Given the description of an element on the screen output the (x, y) to click on. 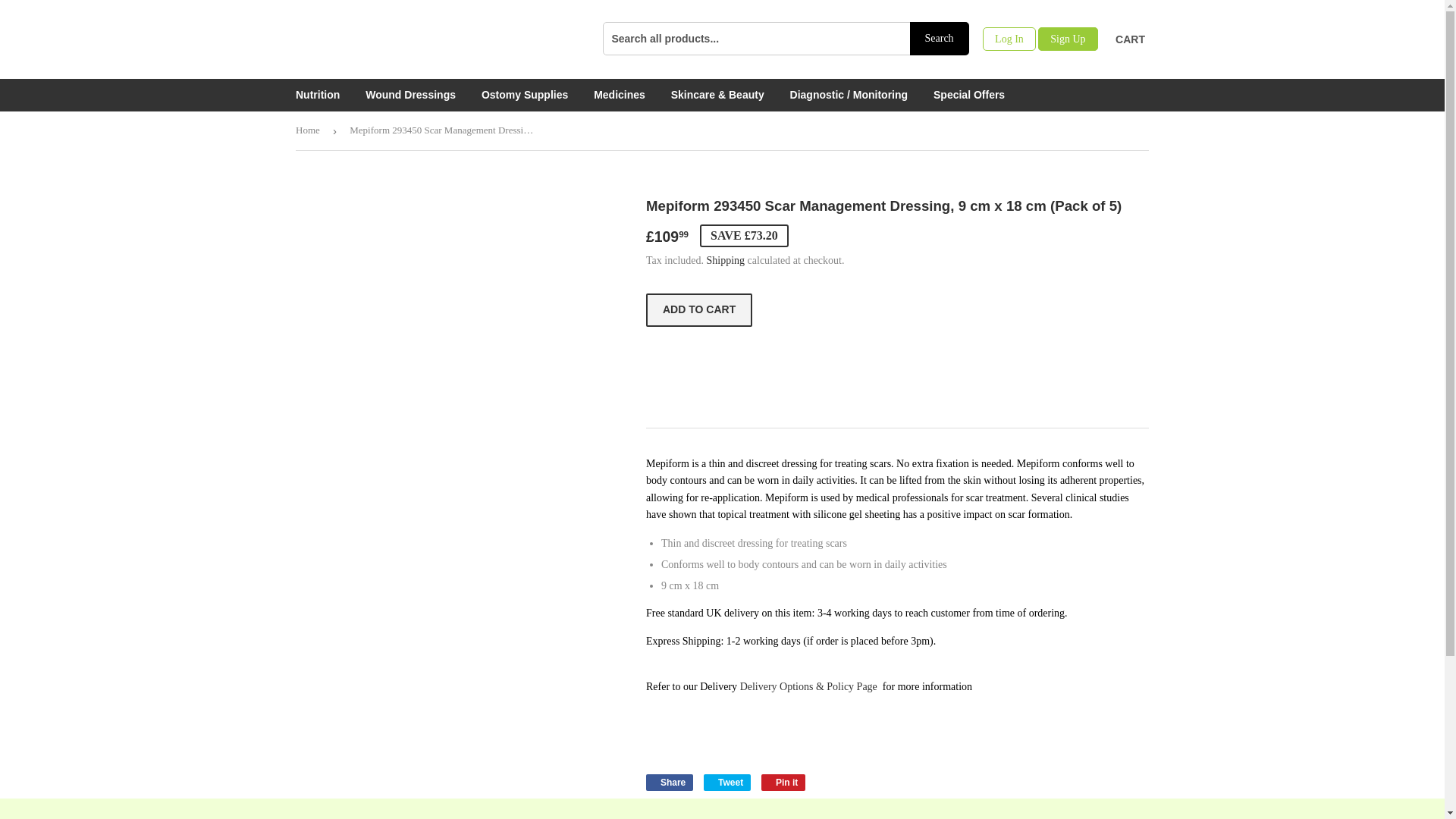
Wound Dressings (410, 94)
Search (939, 38)
Shipping (725, 260)
ADD TO CART (699, 309)
Medicines (669, 782)
Share on Facebook (619, 94)
Tweet on Twitter (669, 782)
Pin on Pinterest (727, 782)
